Given the description of an element on the screen output the (x, y) to click on. 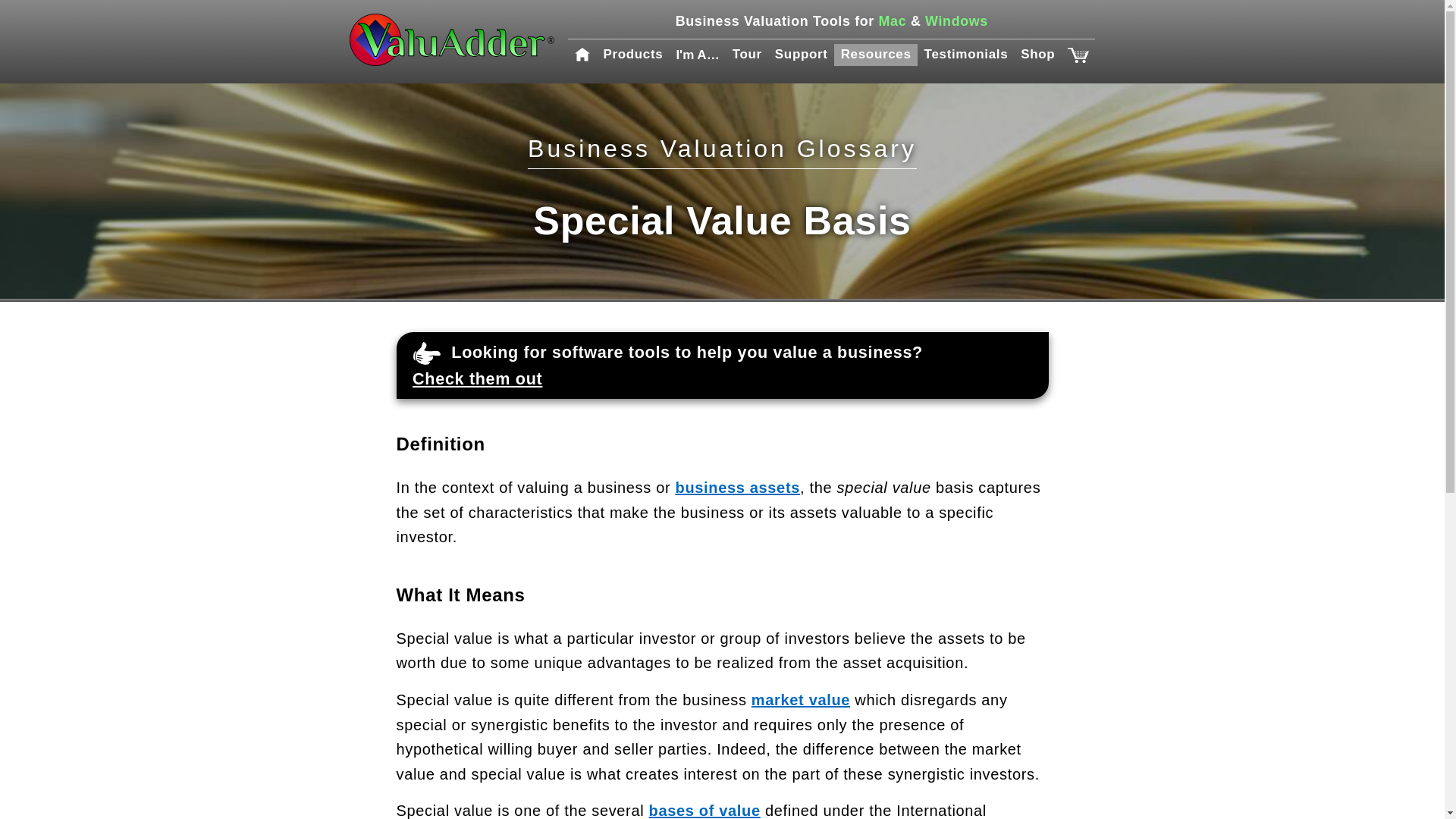
bases of value (704, 810)
market value (800, 699)
Resources (875, 55)
ValuAdder Tour (746, 55)
Support (801, 55)
Tour (746, 55)
Products (632, 55)
Customer Support (801, 55)
View Cart (1077, 55)
Business Valuation Guide, Glossary and Other Resources (875, 55)
Testimonials (965, 55)
ValuAdder Home (451, 40)
Shop (1037, 55)
business assets (737, 487)
